Given the description of an element on the screen output the (x, y) to click on. 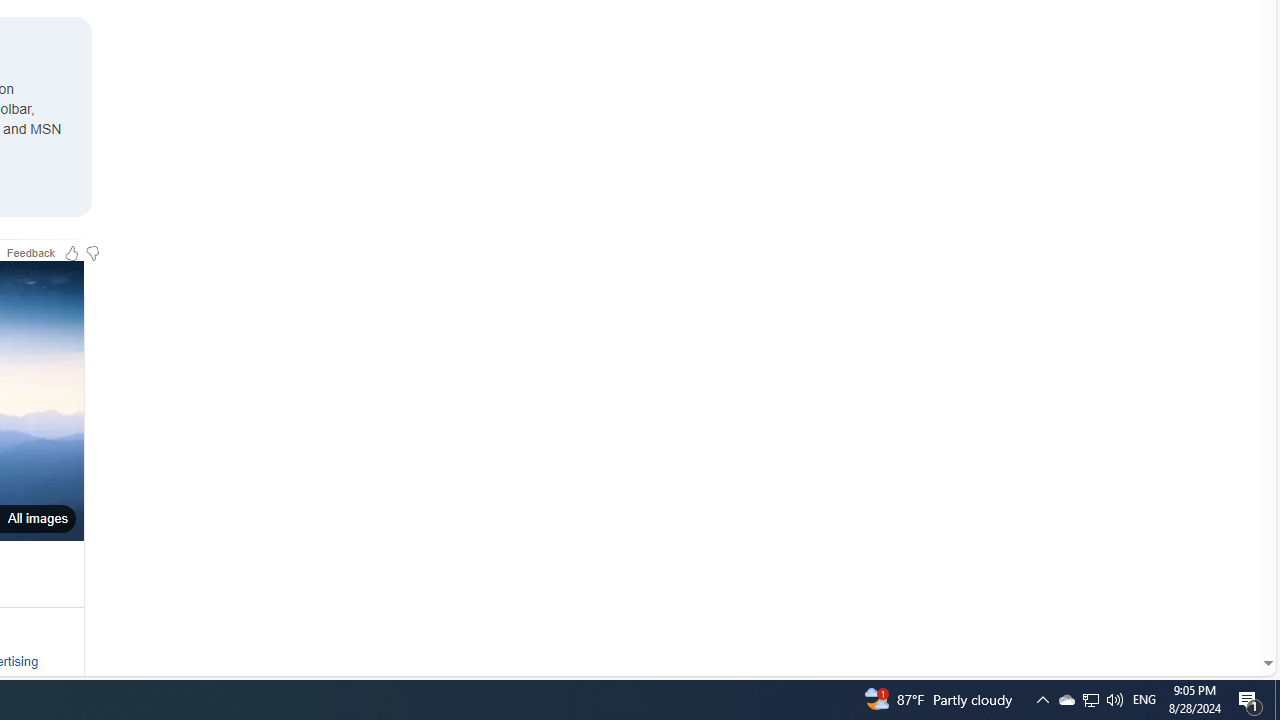
Feedback Dislike (91, 252)
Feedback Like (71, 252)
AutomationID: mfa_root (1192, 603)
Search more (1222, 604)
